Given the description of an element on the screen output the (x, y) to click on. 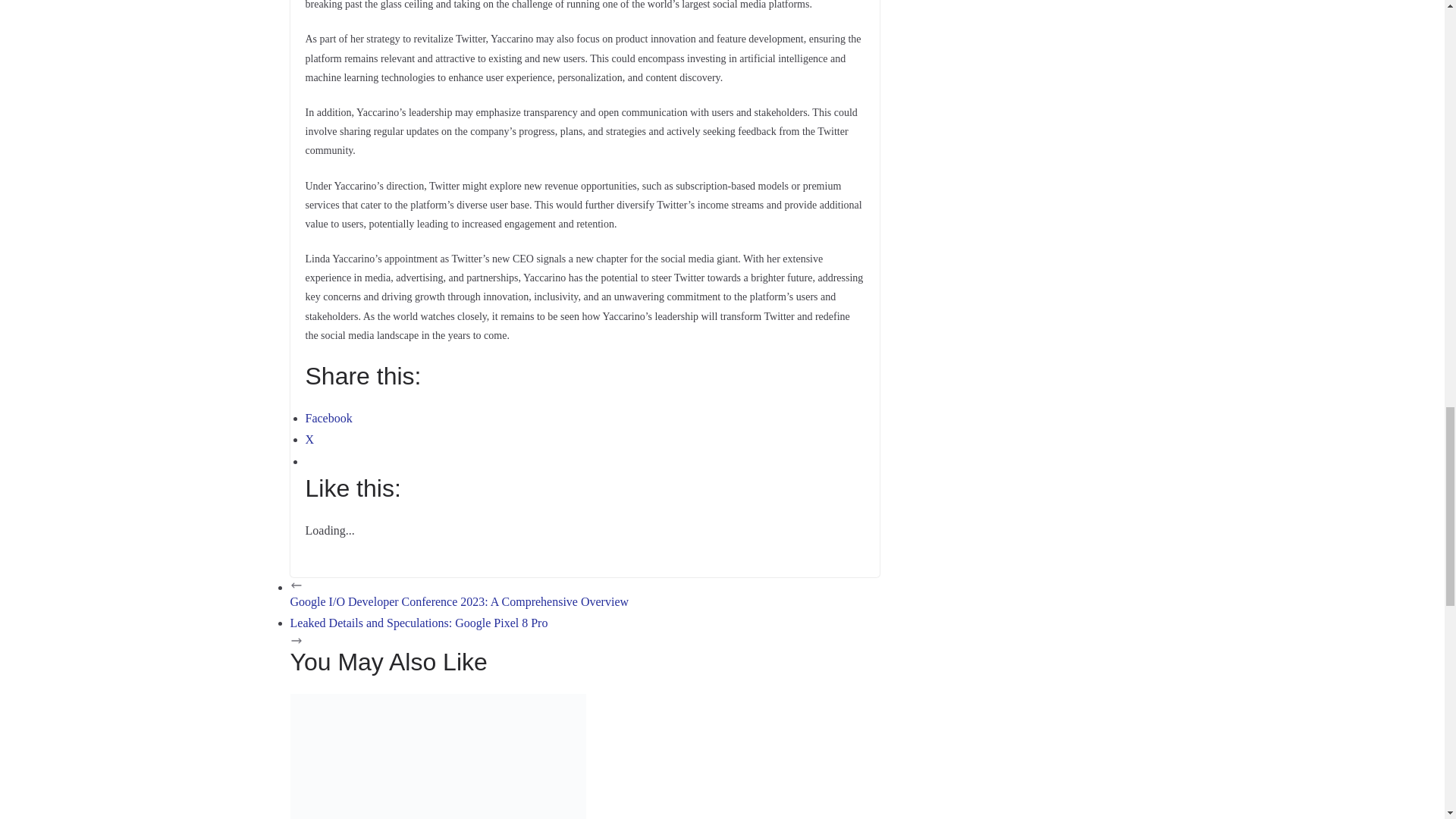
Leaked Details and Speculations: Google Pixel 8 Pro (584, 631)
FirstBank Celebrates Youth Week 2021 (437, 703)
Click to share on Facebook (328, 418)
Facebook (328, 418)
